Given the description of an element on the screen output the (x, y) to click on. 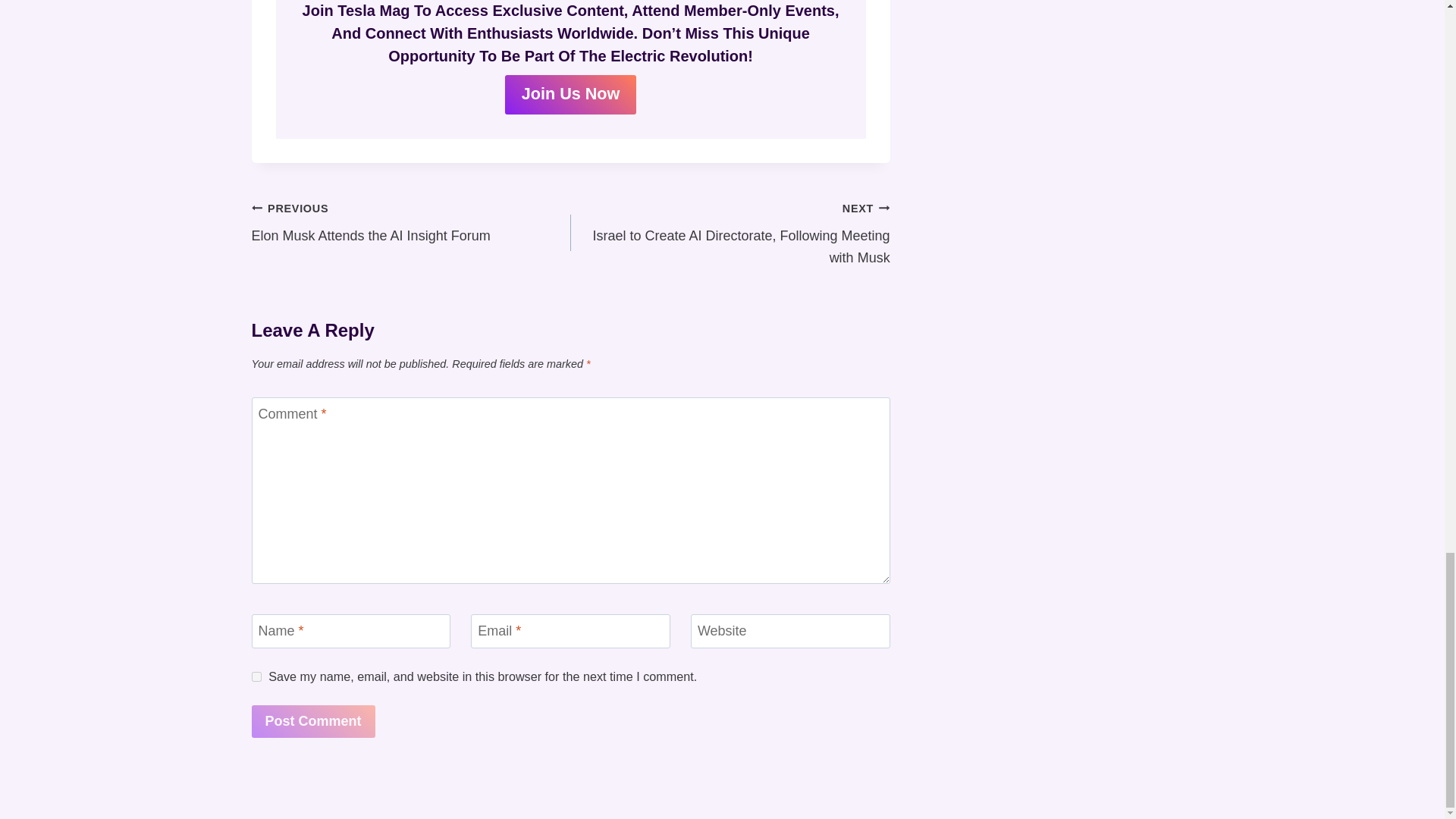
Join Us Now (570, 94)
Post Comment (313, 721)
yes (256, 676)
Post Comment (410, 222)
